Given the description of an element on the screen output the (x, y) to click on. 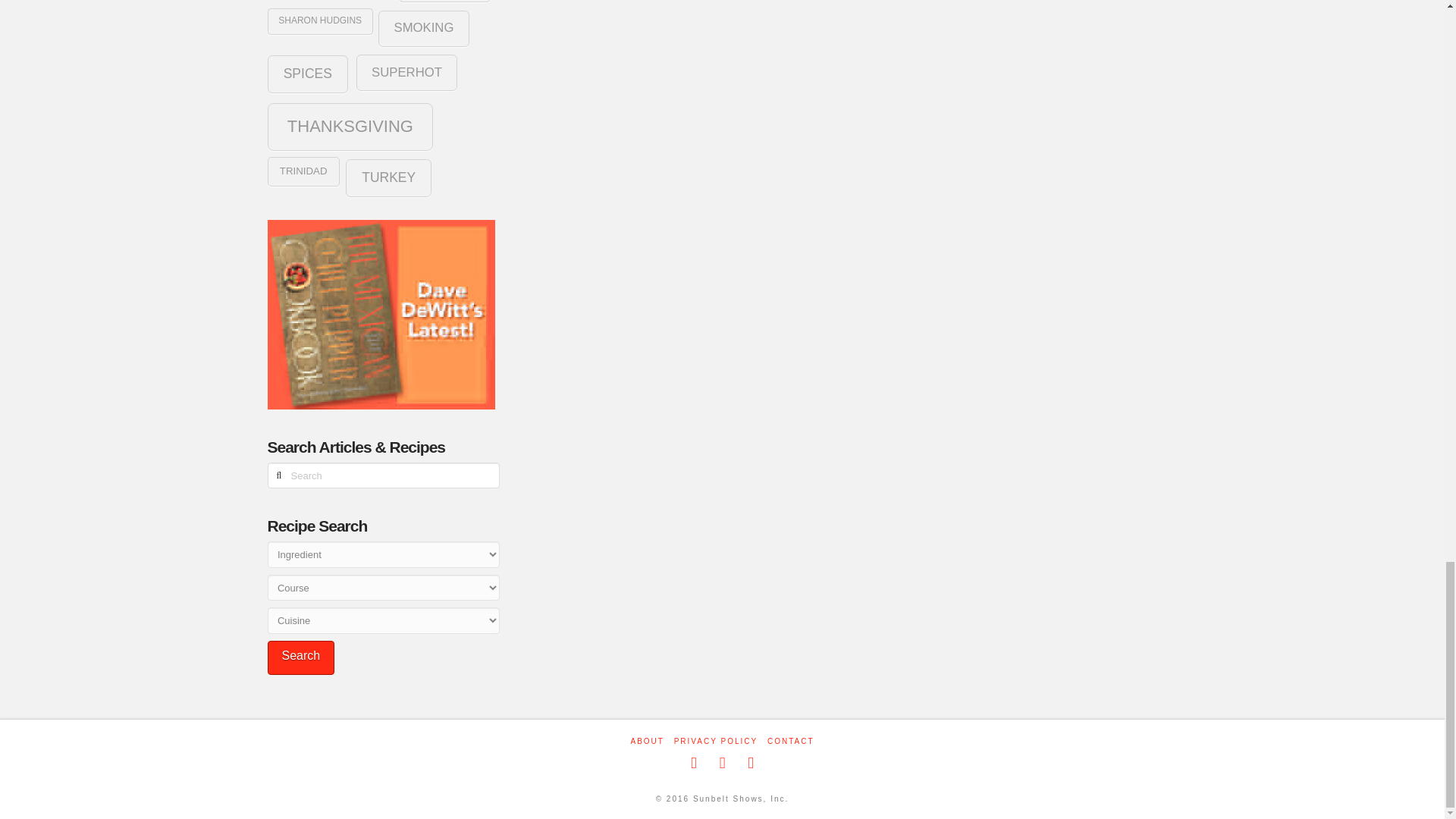
About (646, 740)
Search (300, 657)
Privacy Policy (715, 740)
Contact (790, 740)
